Given the description of an element on the screen output the (x, y) to click on. 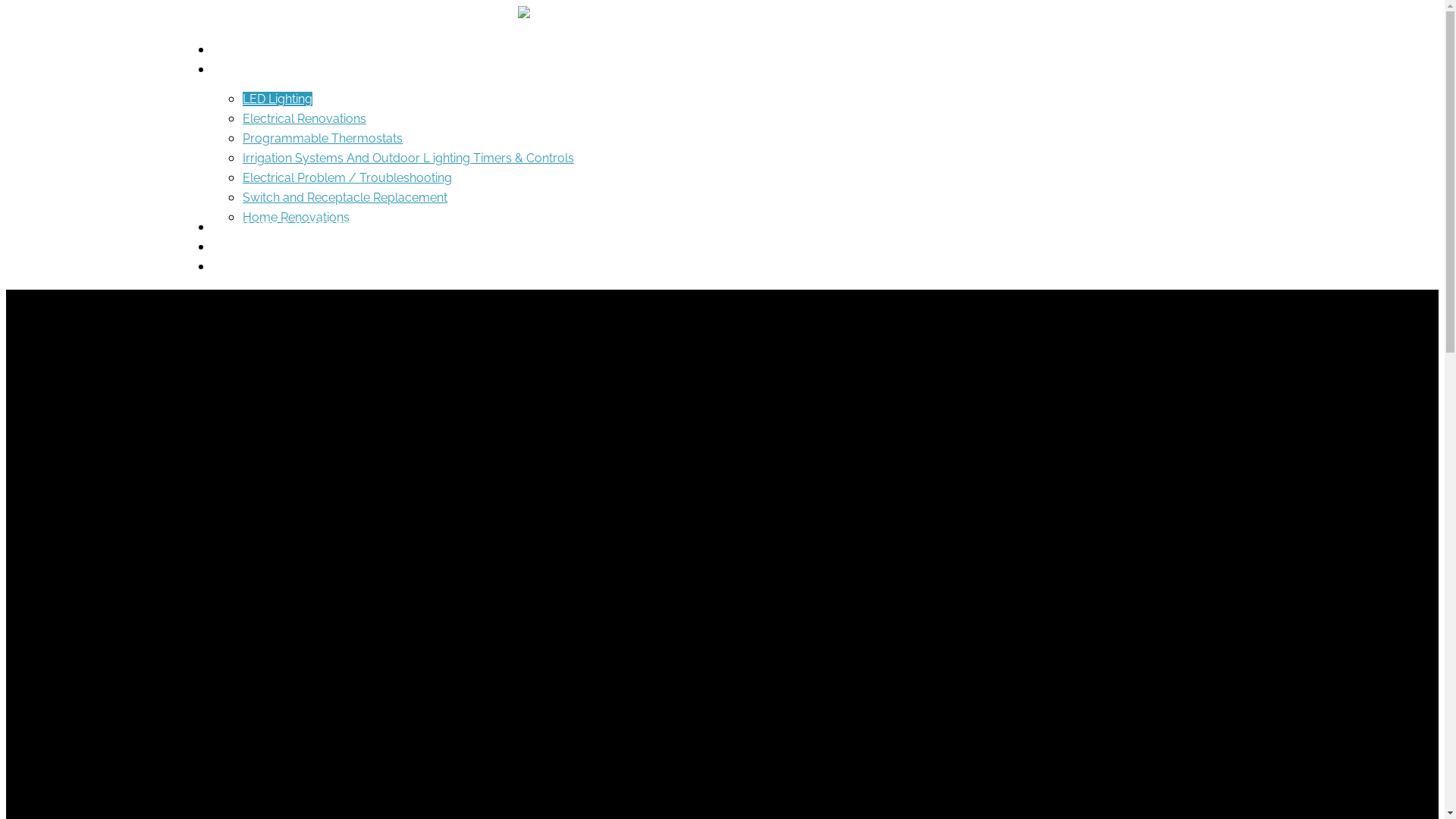
Programmable Thermostats Element type: text (322, 138)
Switch and Receptacle Replacement Element type: text (344, 197)
ABOUT Element type: text (243, 48)
SERVICES Element type: text (251, 68)
Skip to main content Element type: text (5, 5)
Irrigation Systems And Outdoor L ighting Timers & Controls Element type: text (408, 157)
250.862.6482 Element type: text (262, 265)
LED Lighting Element type: text (277, 98)
PERMITS & INSPECTIONS Element type: text (302, 226)
Home Renovations Element type: text (295, 217)
Electrical Renovations Element type: text (304, 118)
CONTACT Element type: text (251, 246)
Electrical Problem / Troubleshooting Element type: text (346, 177)
